Given the description of an element on the screen output the (x, y) to click on. 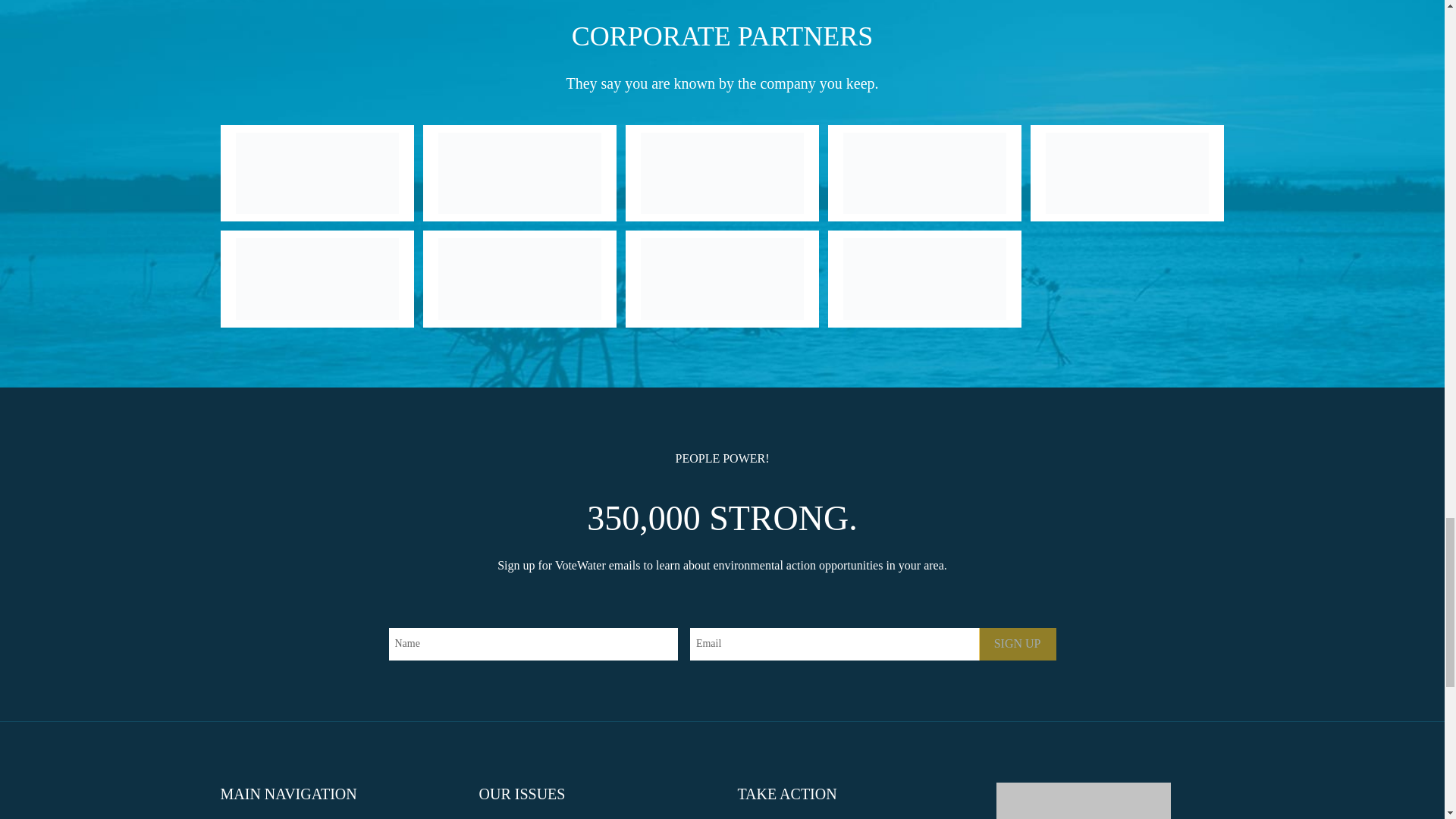
Sign up (1017, 644)
logo-patagonia (1126, 173)
go-media-logo (721, 279)
logo-affta (315, 173)
Sign up (1017, 644)
logo-florida-sportsman (519, 173)
corporate-sponsors-dolphin-bar (924, 279)
logo-raymond-james (315, 279)
logo-hlm (721, 173)
logo-orvis (924, 173)
logo-fko (519, 279)
